Given the description of an element on the screen output the (x, y) to click on. 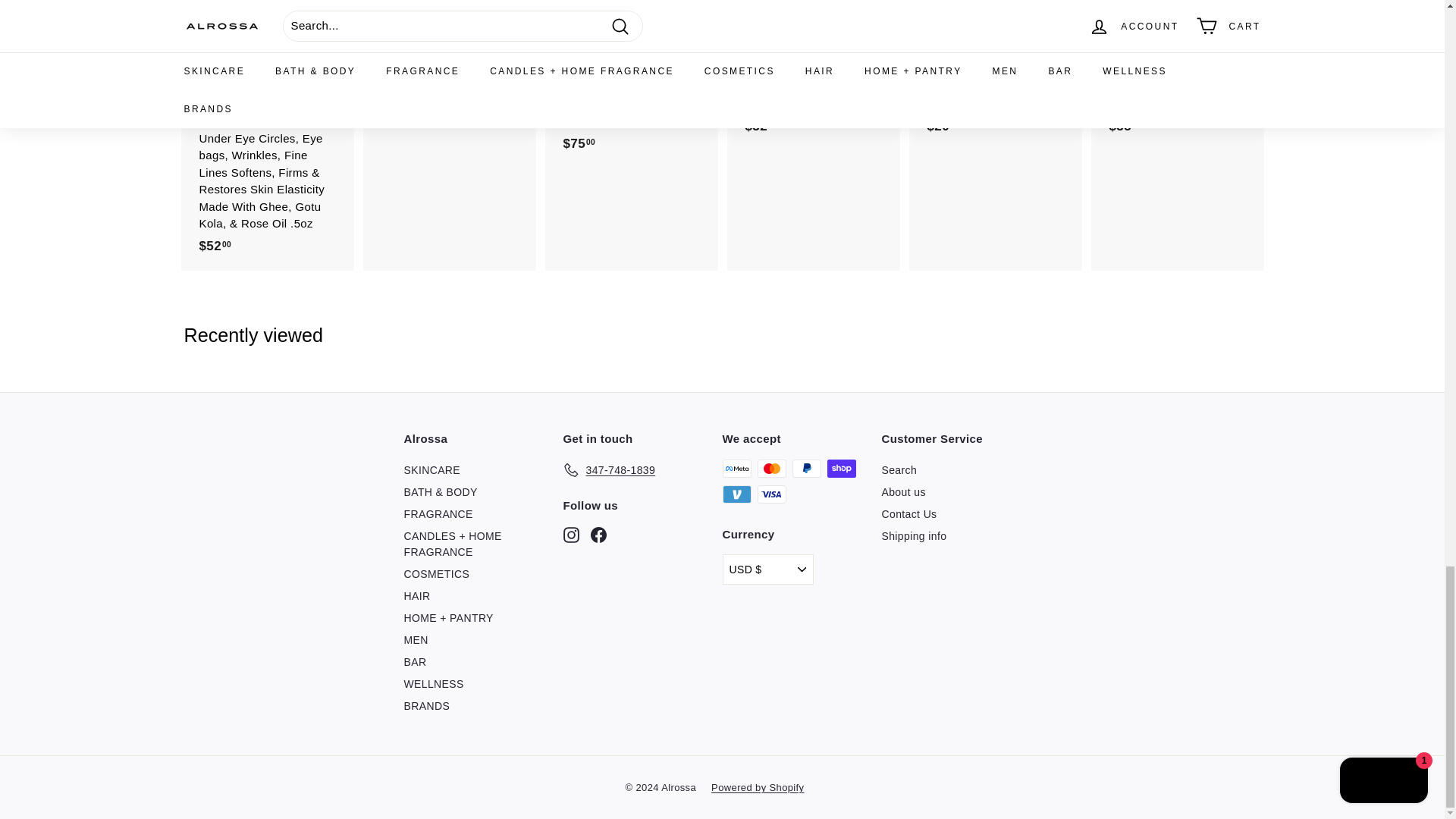
Visa (771, 494)
Venmo (736, 494)
PayPal (806, 468)
Shop Pay (841, 468)
Mastercard (771, 468)
Meta Pay (736, 468)
